Given the description of an element on the screen output the (x, y) to click on. 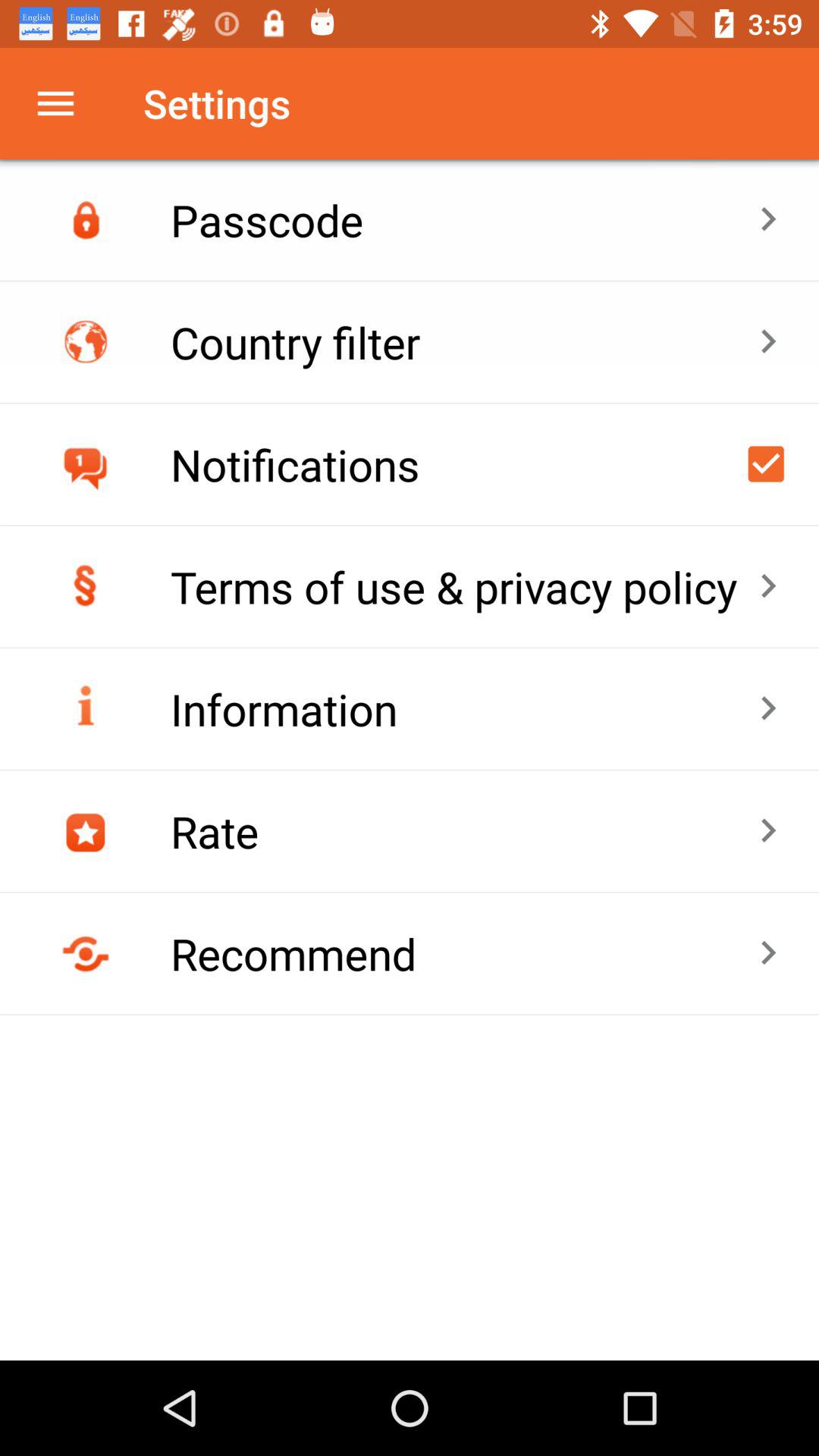
open the item above terms of use item (464, 464)
